Given the description of an element on the screen output the (x, y) to click on. 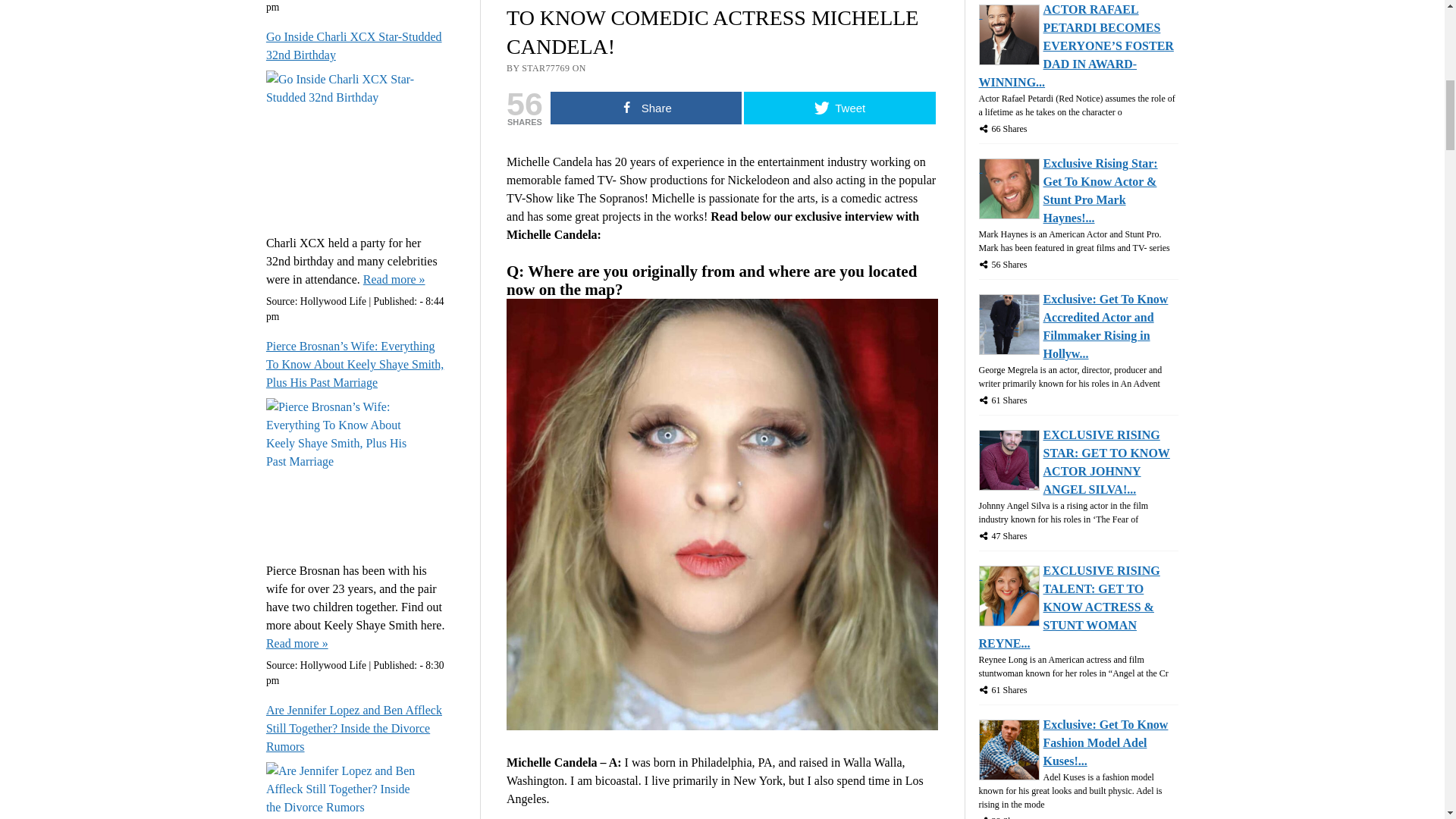
Go Inside Charli XCX Star-Studded 32nd Birthday (357, 45)
Go Inside Charli XCX Star-Studded 32nd Birthday (393, 280)
Go Inside Charli XCX Star-Studded 32nd Birthday (357, 45)
